Given the description of an element on the screen output the (x, y) to click on. 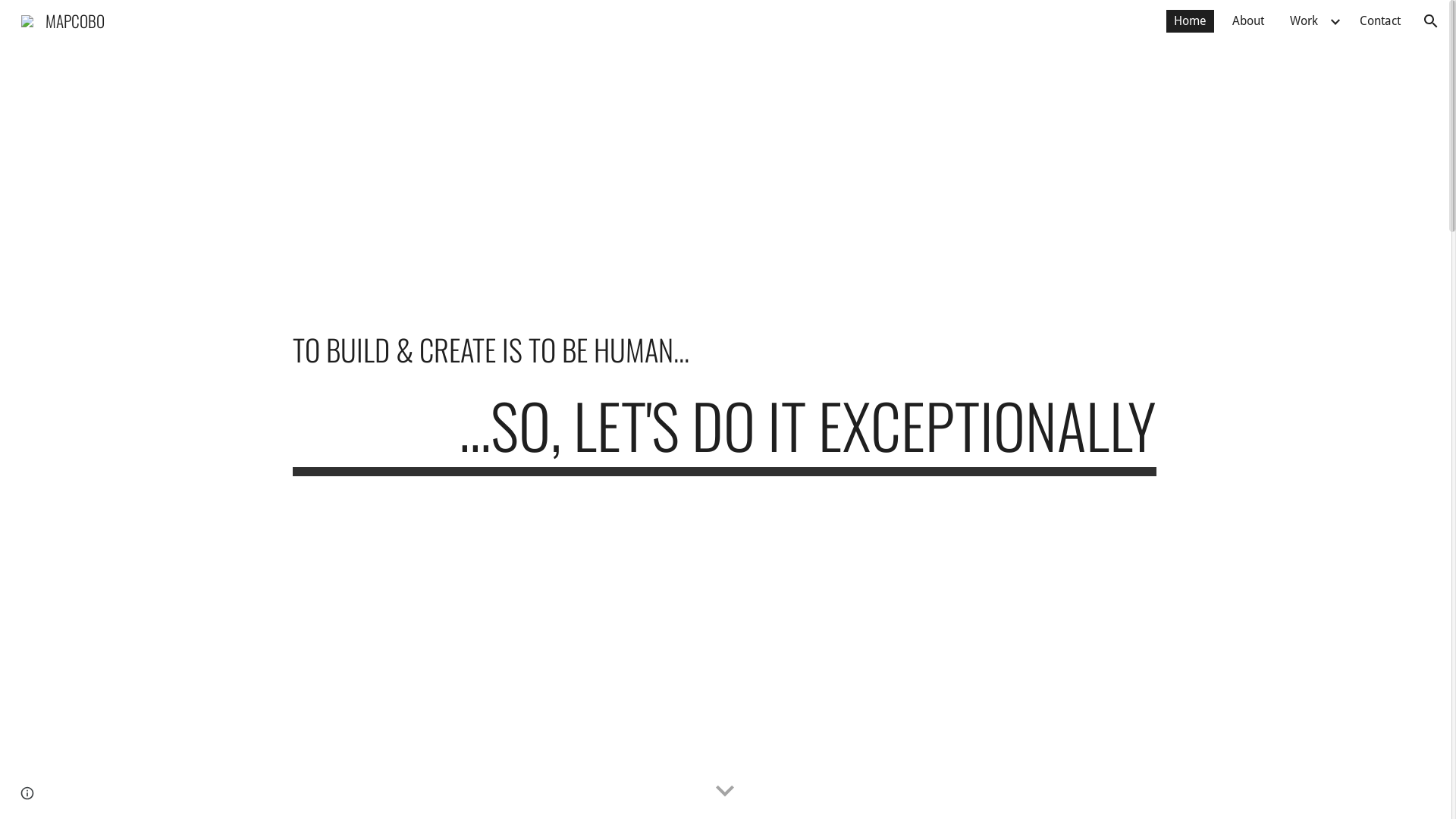
MAPCOBO Element type: text (62, 18)
Expand/Collapse Element type: hover (1334, 20)
Work Element type: text (1303, 20)
About Element type: text (1247, 20)
Contact Element type: text (1380, 20)
Home Element type: text (1190, 20)
